Given the description of an element on the screen output the (x, y) to click on. 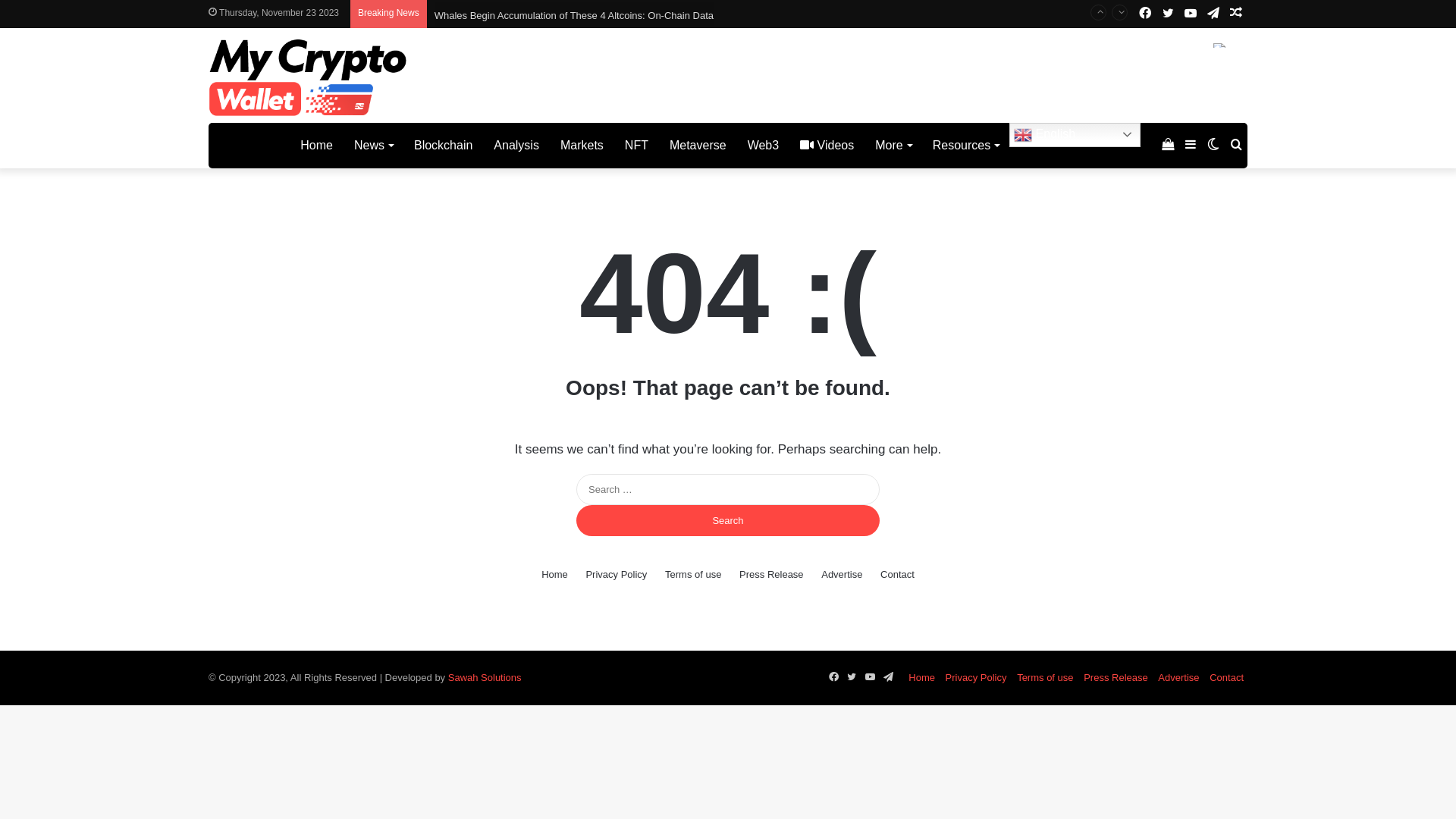
Press Release Element type: text (771, 574)
Videos Element type: text (826, 145)
Privacy Policy Element type: text (615, 574)
Privacy Policy Element type: text (976, 677)
Press Release Element type: text (1115, 677)
Home Element type: text (316, 145)
Advertise Element type: text (1177, 677)
Home Element type: text (554, 574)
Contact Element type: text (1226, 677)
Home Element type: text (921, 677)
Telegram Element type: text (887, 677)
Facebook Element type: text (1144, 13)
News Element type: text (373, 145)
Sawah Solutions Element type: text (484, 677)
Random Article Element type: text (1235, 13)
More Element type: text (892, 145)
Search Element type: text (727, 520)
NFT Element type: text (636, 145)
Terms of use Element type: text (1044, 677)
Advertise Element type: text (841, 574)
YouTube Element type: text (869, 677)
Sidebar Element type: text (1190, 145)
Twitter Element type: text (1167, 13)
View your shopping cart Element type: text (1167, 145)
Resources Element type: text (965, 145)
Switch skin Element type: text (1212, 145)
Facebook Element type: text (833, 677)
Blockchain Element type: text (443, 145)
Markets Element type: text (581, 145)
Analysis Element type: text (516, 145)
English Element type: text (1074, 134)
MyCryptoWallet Element type: hover (248, 145)
Terms of use Element type: text (693, 574)
Telegram Element type: text (1212, 13)
Metaverse Element type: text (697, 145)
Search for Element type: text (1235, 145)
MyCryptoWallet Element type: hover (309, 77)
Web3 Element type: text (763, 145)
YouTube Element type: text (1190, 13)
Contact Element type: text (897, 574)
Twitter Element type: text (851, 677)
